Given the description of an element on the screen output the (x, y) to click on. 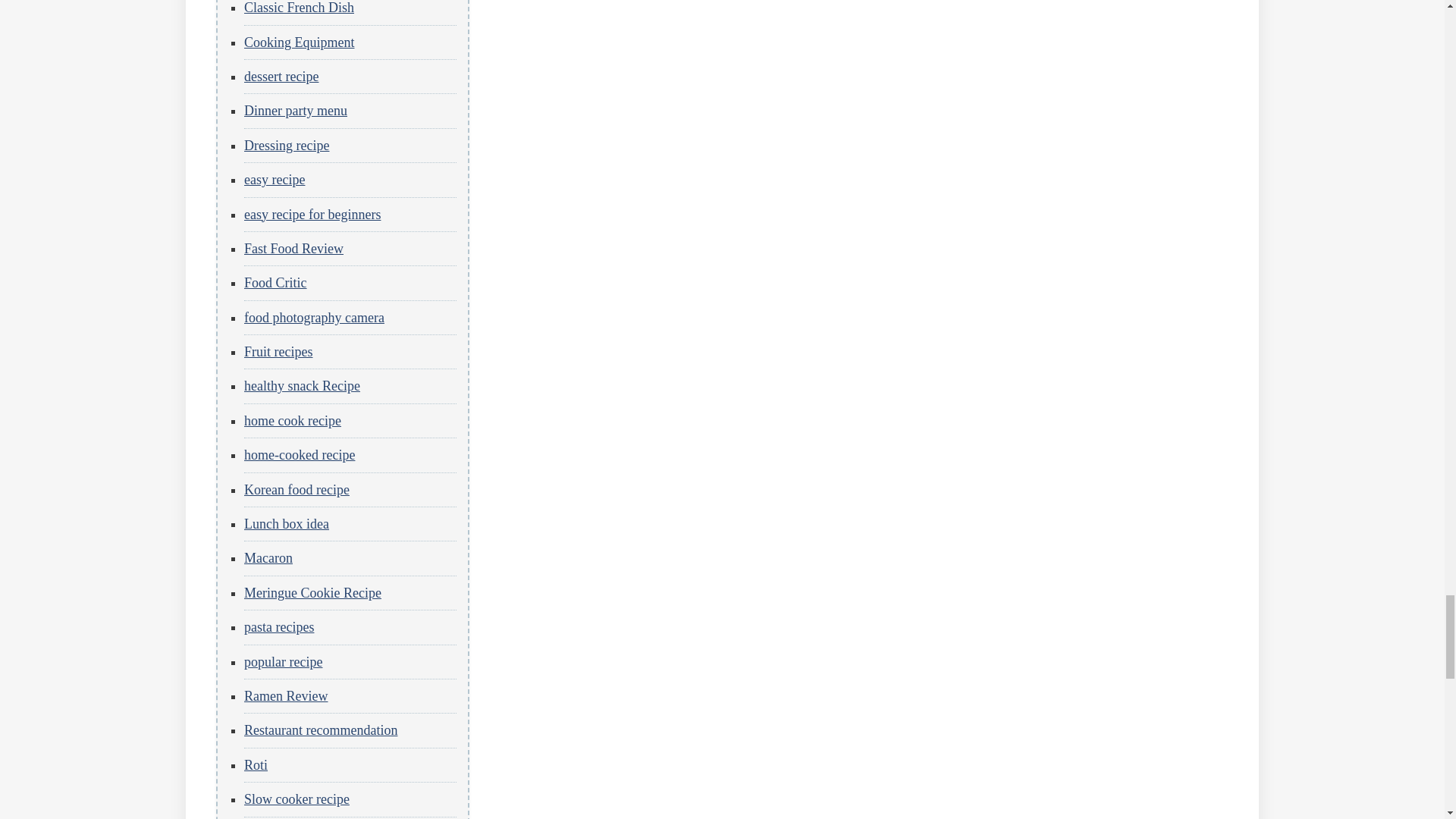
Classic French Dish (298, 7)
Cooking Equipment (299, 42)
